Given the description of an element on the screen output the (x, y) to click on. 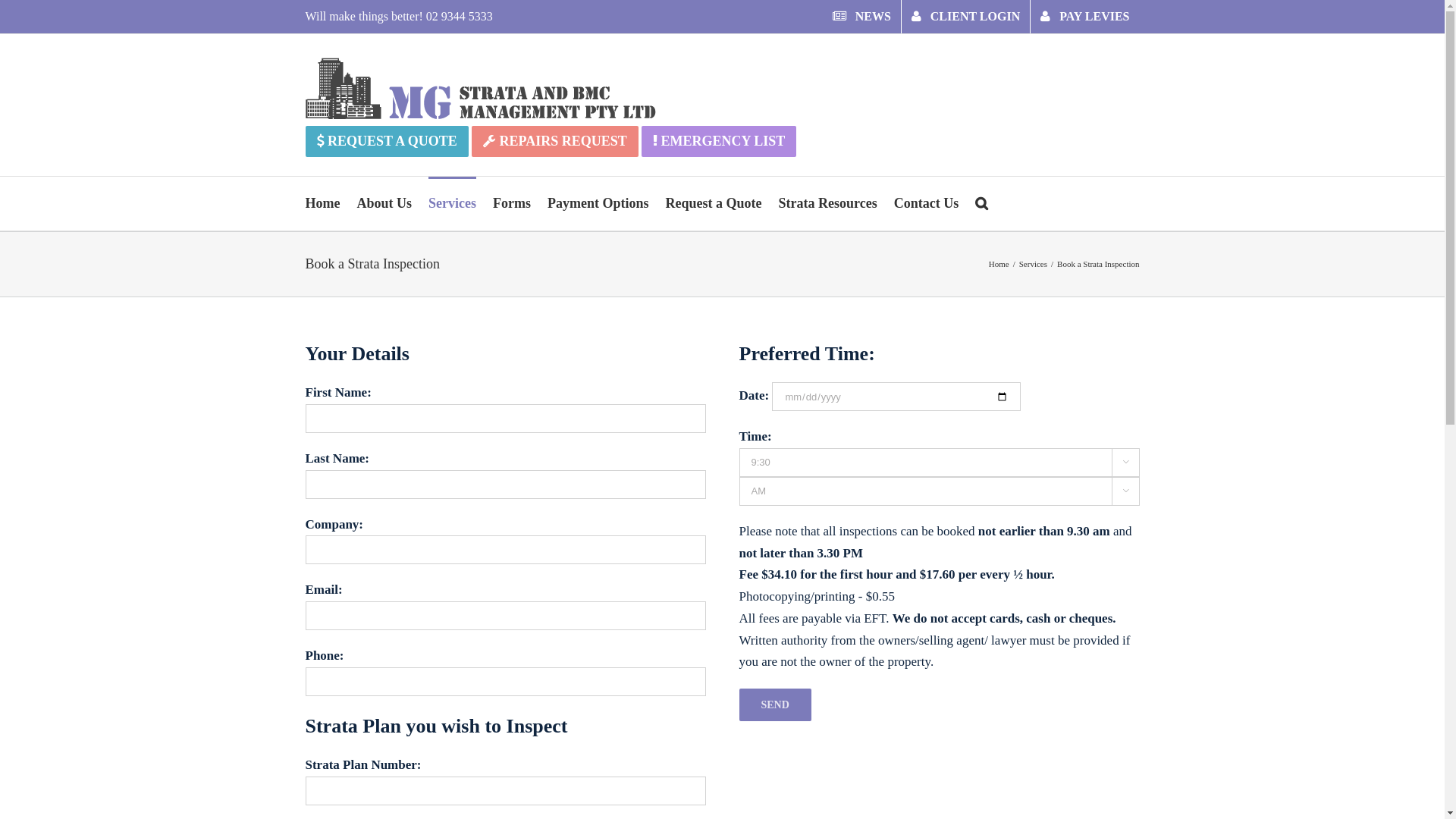
Request a Quote Element type: text (713, 203)
 REPAIRS REQUEST Element type: text (554, 140)
 EMERGENCY LIST Element type: text (718, 140)
 REQUEST A QUOTE Element type: text (385, 140)
Services Element type: text (1033, 263)
Home Element type: text (998, 263)
About Us Element type: text (383, 203)
Forms Element type: text (511, 203)
Contact Us Element type: text (926, 203)
Services Element type: text (452, 203)
Payment Options Element type: text (598, 203)
Strata Resources Element type: text (827, 203)
CLIENT LOGIN Element type: text (965, 16)
Home Element type: text (321, 203)
NEWS Element type: text (861, 16)
Send Element type: text (774, 704)
PAY LEVIES Element type: text (1084, 16)
